Given the description of an element on the screen output the (x, y) to click on. 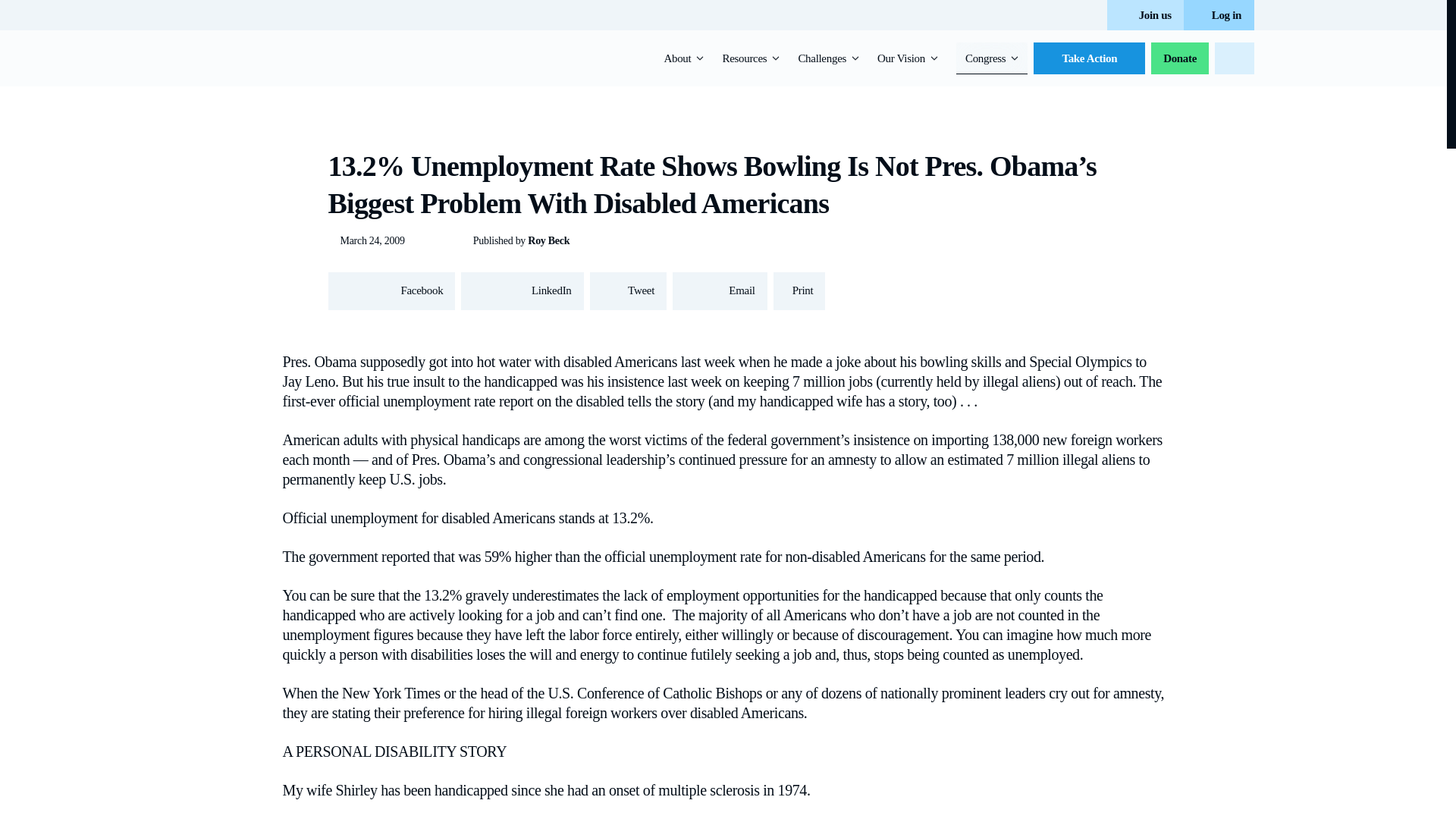
Donate (1179, 58)
Log in (1218, 15)
Take Action (1088, 58)
Join us (1144, 15)
